Given the description of an element on the screen output the (x, y) to click on. 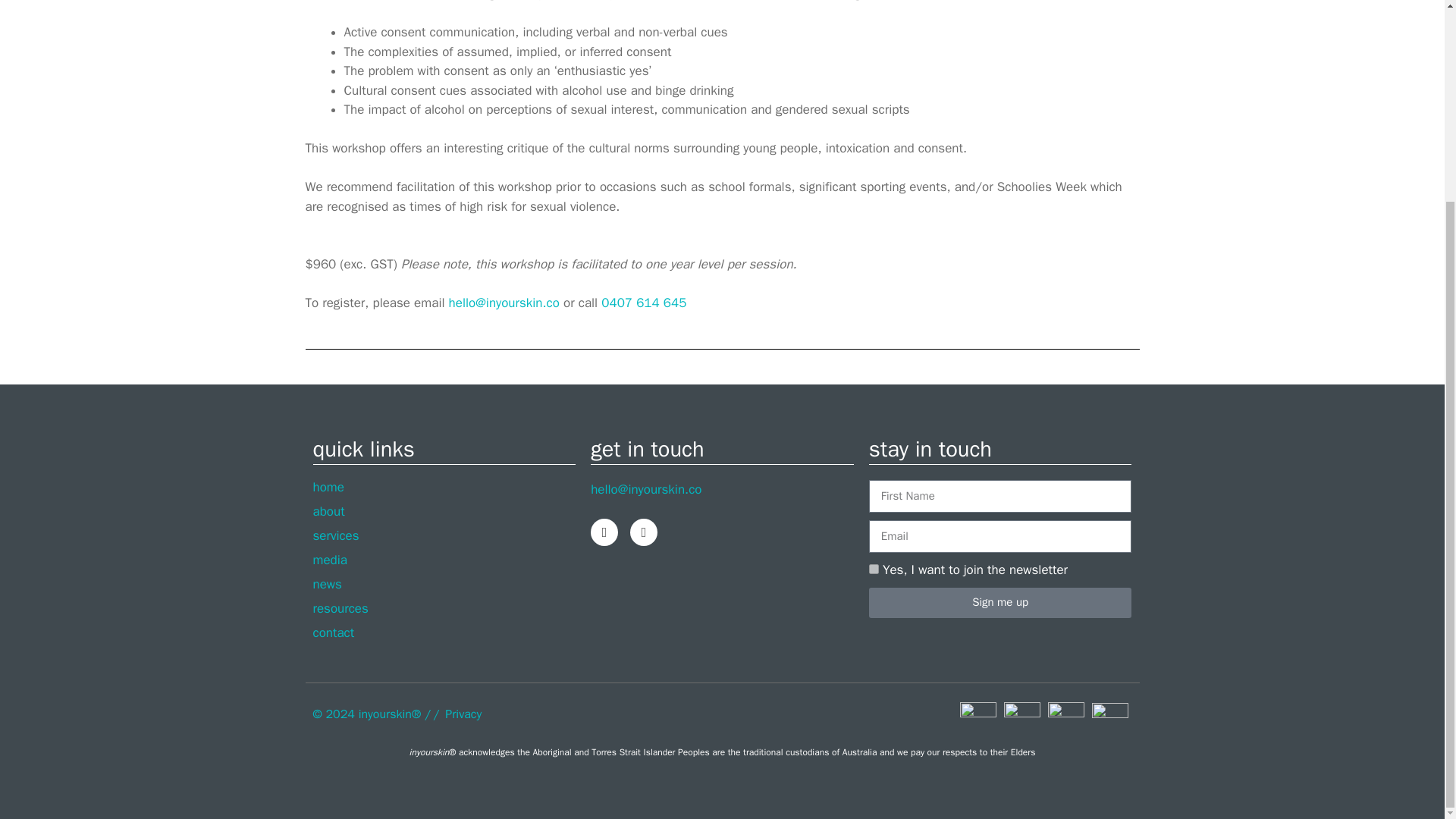
media (444, 560)
resources (444, 608)
news (444, 584)
services (444, 535)
on (874, 569)
0407 614 645 (643, 302)
about (444, 511)
home (444, 487)
contact (444, 632)
